Given the description of an element on the screen output the (x, y) to click on. 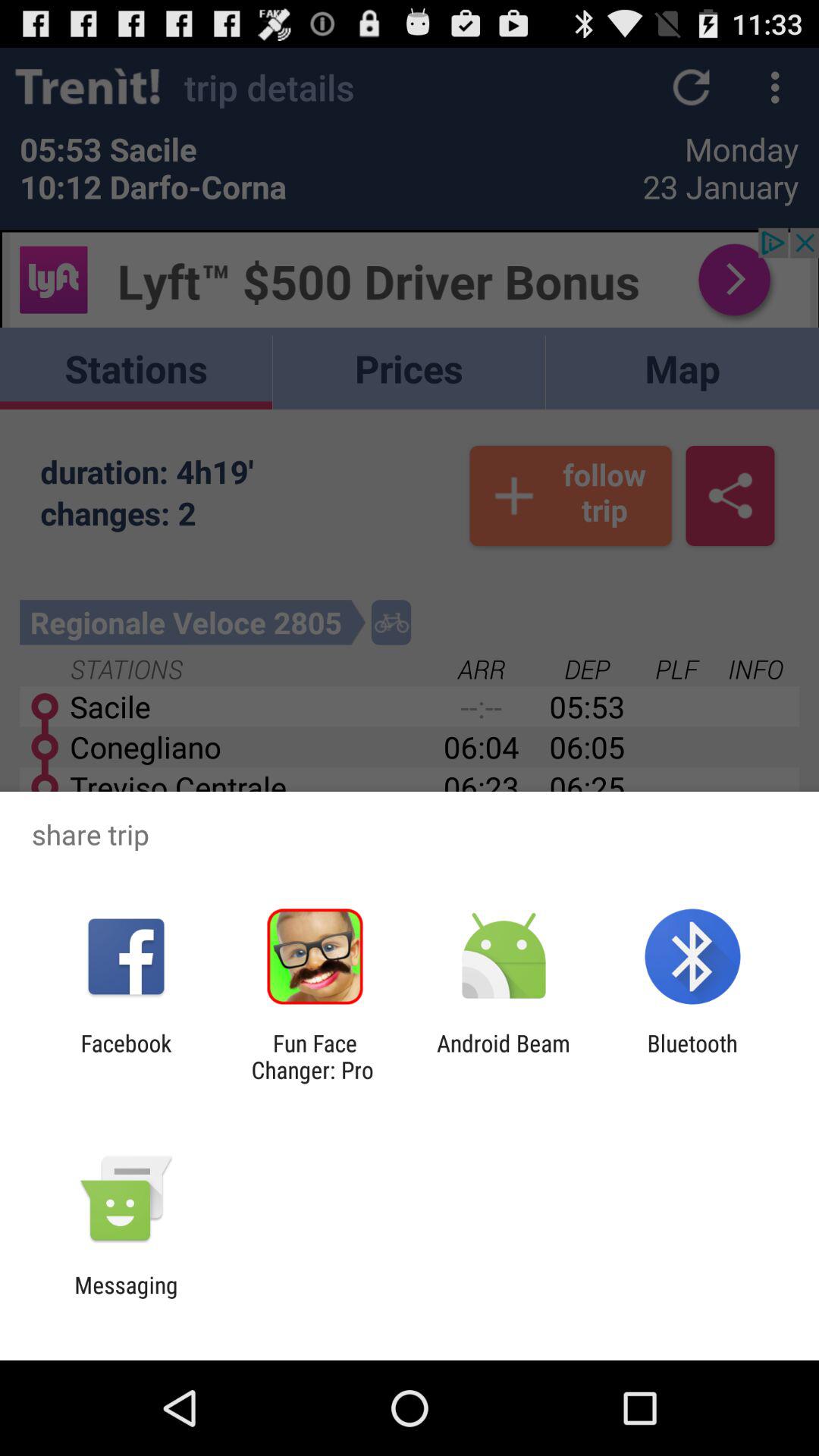
launch messaging item (126, 1298)
